Given the description of an element on the screen output the (x, y) to click on. 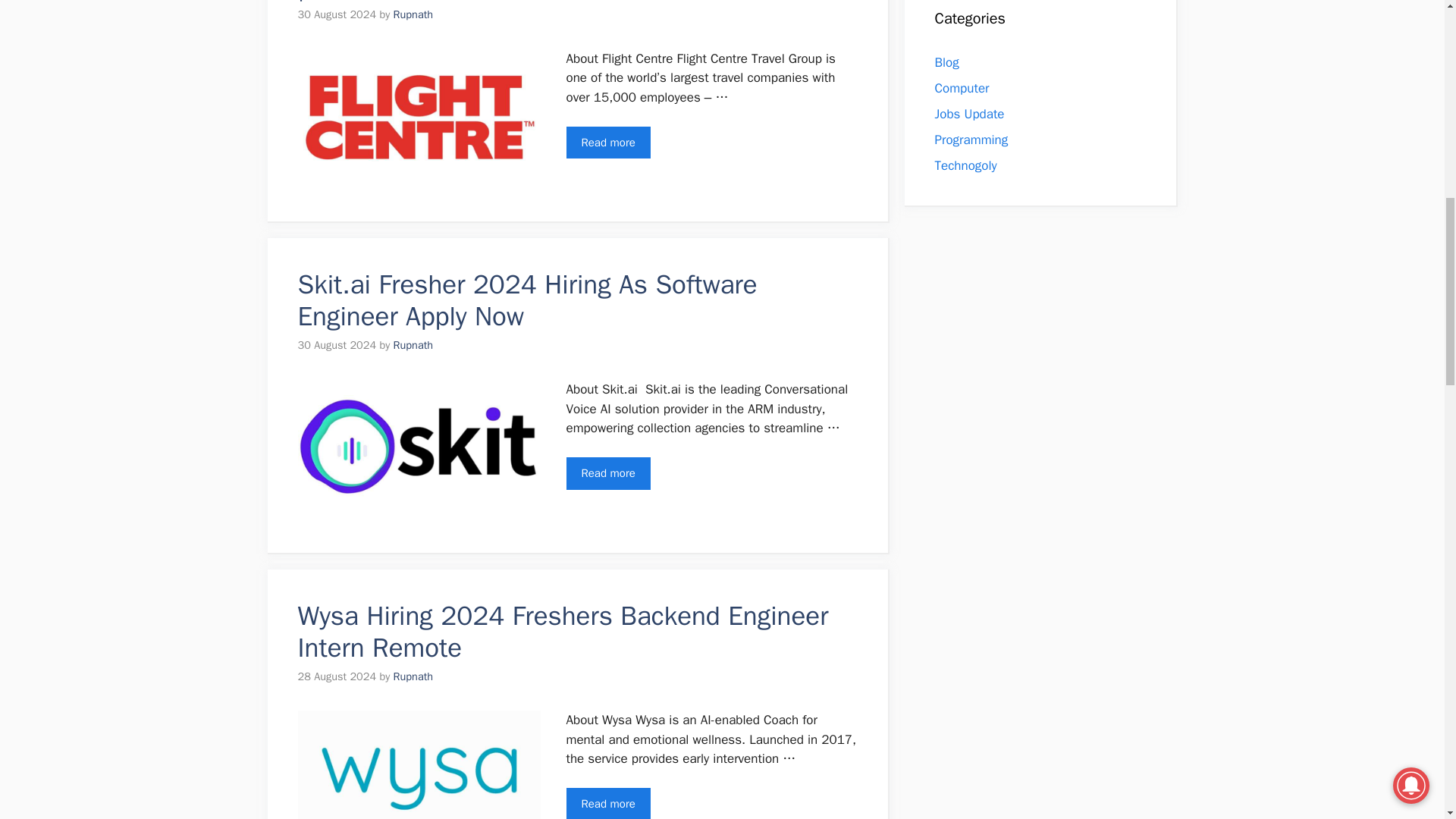
Rupnath (412, 345)
Rupnath (412, 676)
Wysa Hiring 2024 Freshers Backend Engineer Intern Remote (562, 631)
View all posts by Rupnath (412, 14)
Skit.ai Fresher 2024 Hiring As Software Engineer Apply Now (607, 473)
Rupnath (412, 14)
Wysa Hiring 2024 Freshers Backend Engineer Intern Remote (607, 803)
View all posts by Rupnath (412, 345)
Read more (607, 803)
Read more (607, 142)
